Given the description of an element on the screen output the (x, y) to click on. 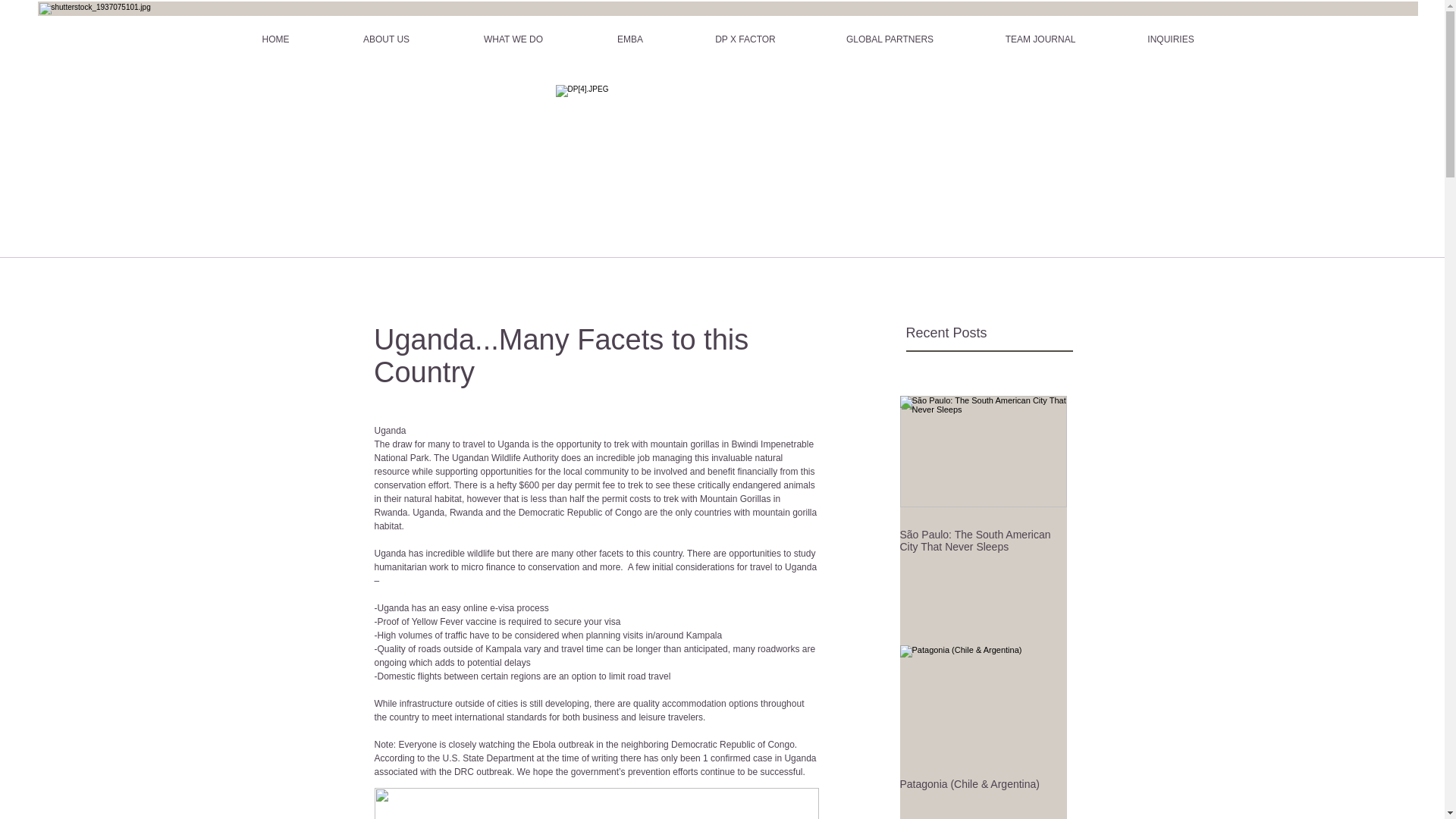
TEAM JOURNAL (1040, 39)
EMBA (629, 39)
INQUIRIES (1170, 39)
ABOUT US (385, 39)
HOME (275, 39)
DP X FACTOR (744, 39)
GLOBAL PARTNERS (889, 39)
WHAT WE DO (512, 39)
